Given the description of an element on the screen output the (x, y) to click on. 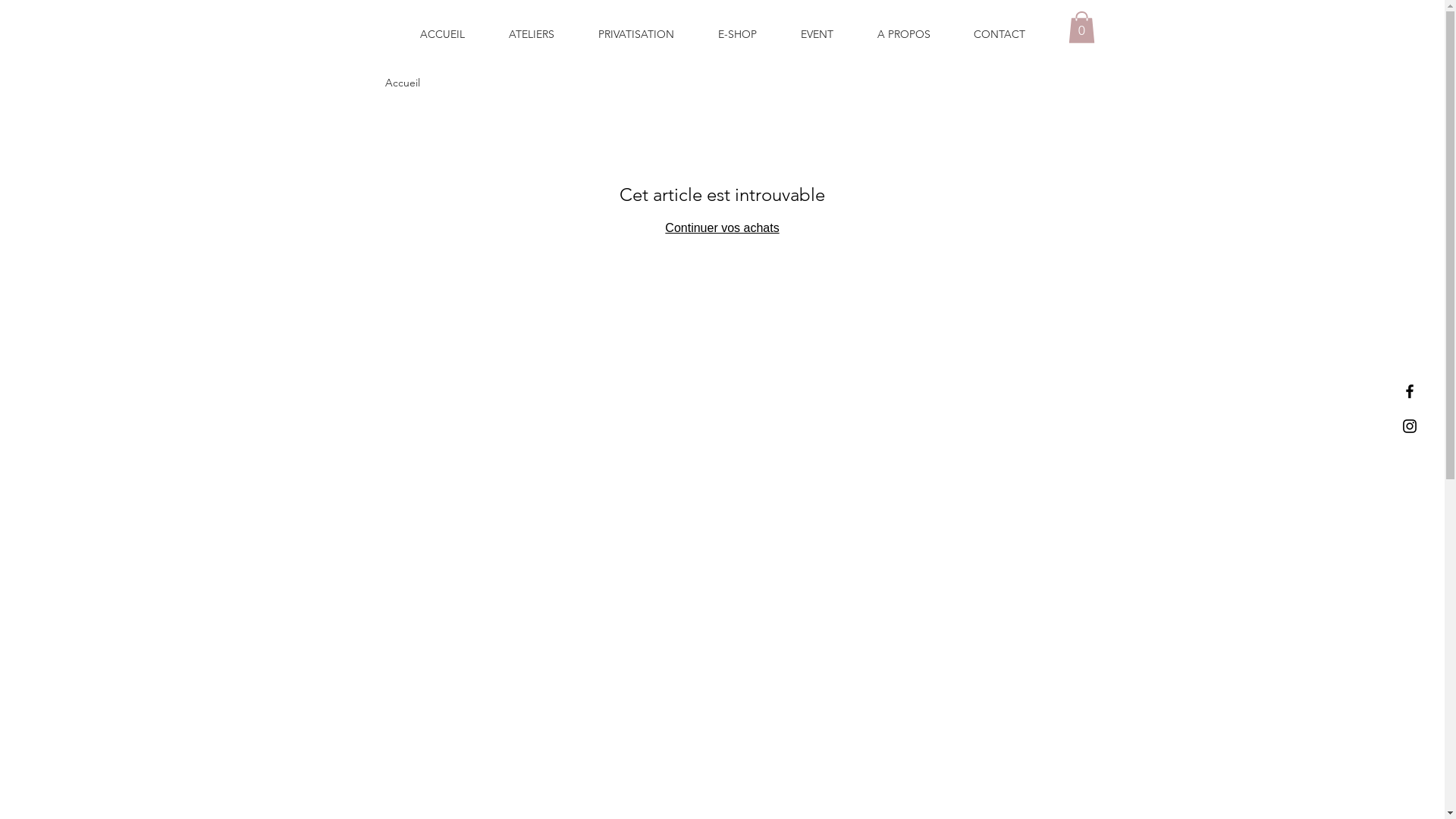
0 Element type: text (1080, 27)
Accueil Element type: text (402, 82)
CONTACT Element type: text (998, 34)
ACCUEIL Element type: text (442, 34)
ATELIERS Element type: text (531, 34)
PRIVATISATION Element type: text (636, 34)
A PROPOS Element type: text (903, 34)
Continuer vos achats Element type: text (721, 227)
E-SHOP Element type: text (737, 34)
EVENT Element type: text (816, 34)
